Given the description of an element on the screen output the (x, y) to click on. 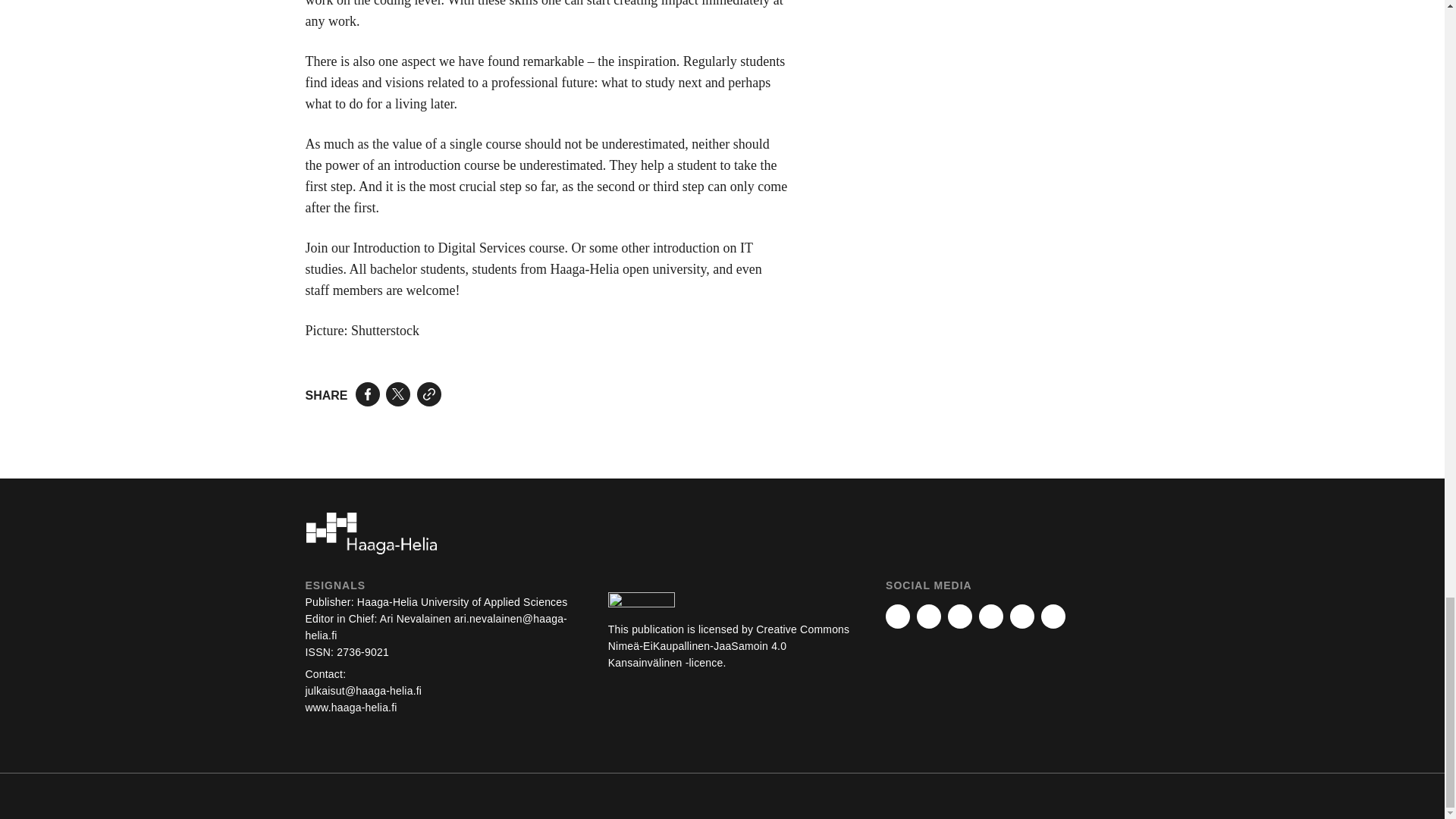
Share on X (397, 394)
Copy URL to clipboard (428, 394)
Share on Facebook (367, 394)
